Given the description of an element on the screen output the (x, y) to click on. 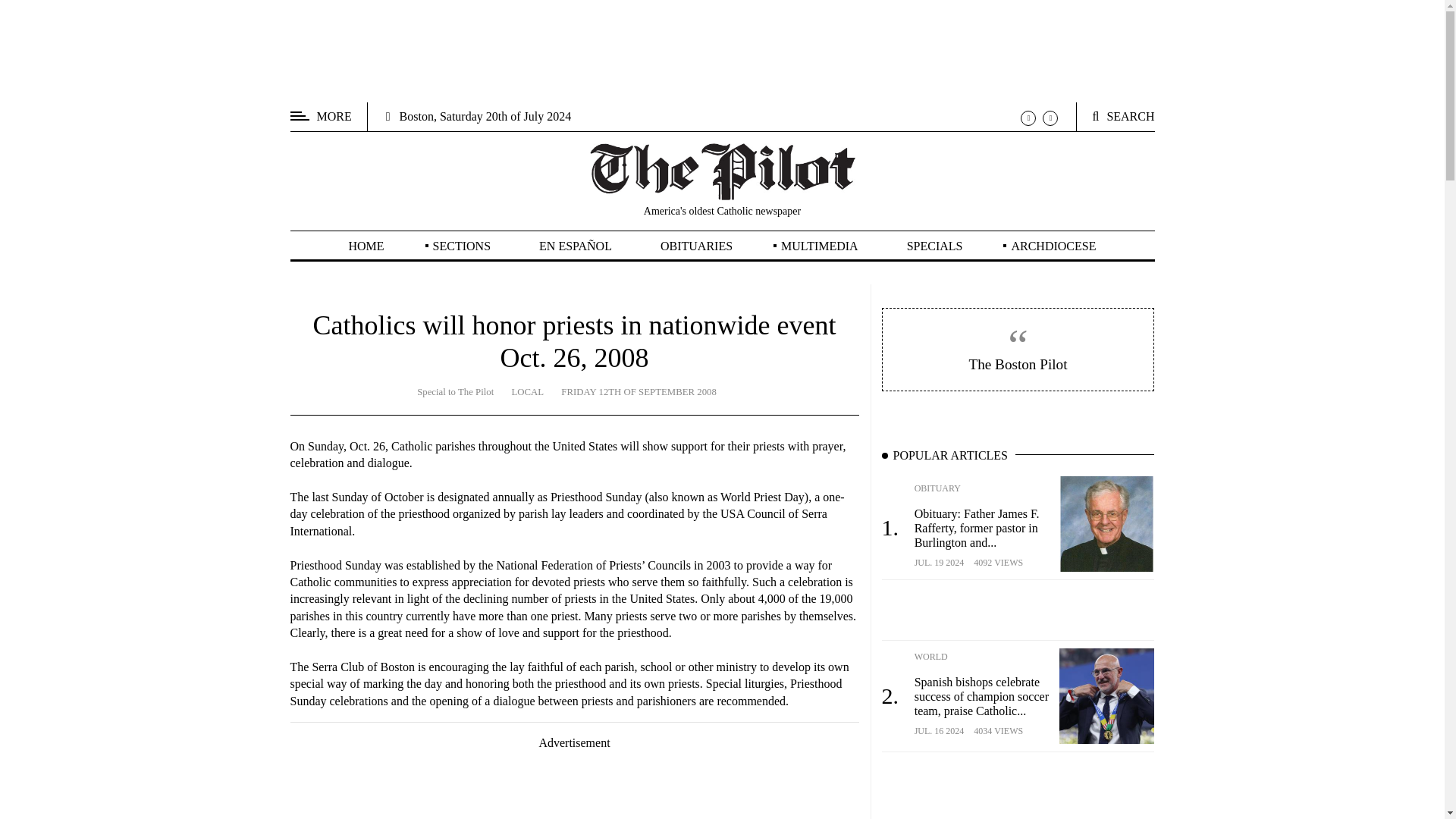
3rd party ad content (722, 50)
